Given the description of an element on the screen output the (x, y) to click on. 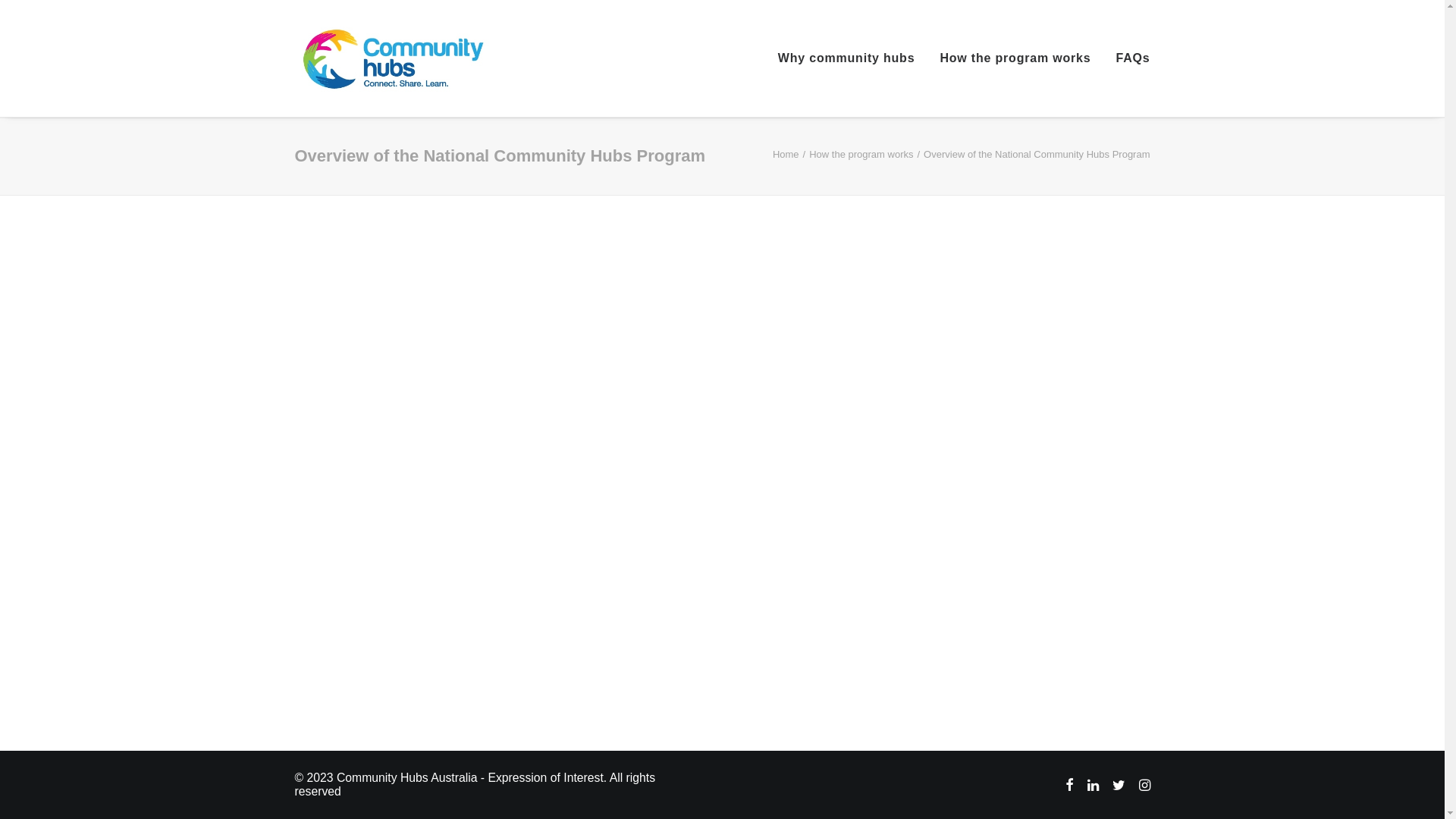
Why community hubs Element type: text (851, 58)
Home Element type: text (785, 154)
FAQs Element type: text (1127, 58)
How the program works Element type: text (861, 154)
How the program works Element type: text (1014, 58)
